Given the description of an element on the screen output the (x, y) to click on. 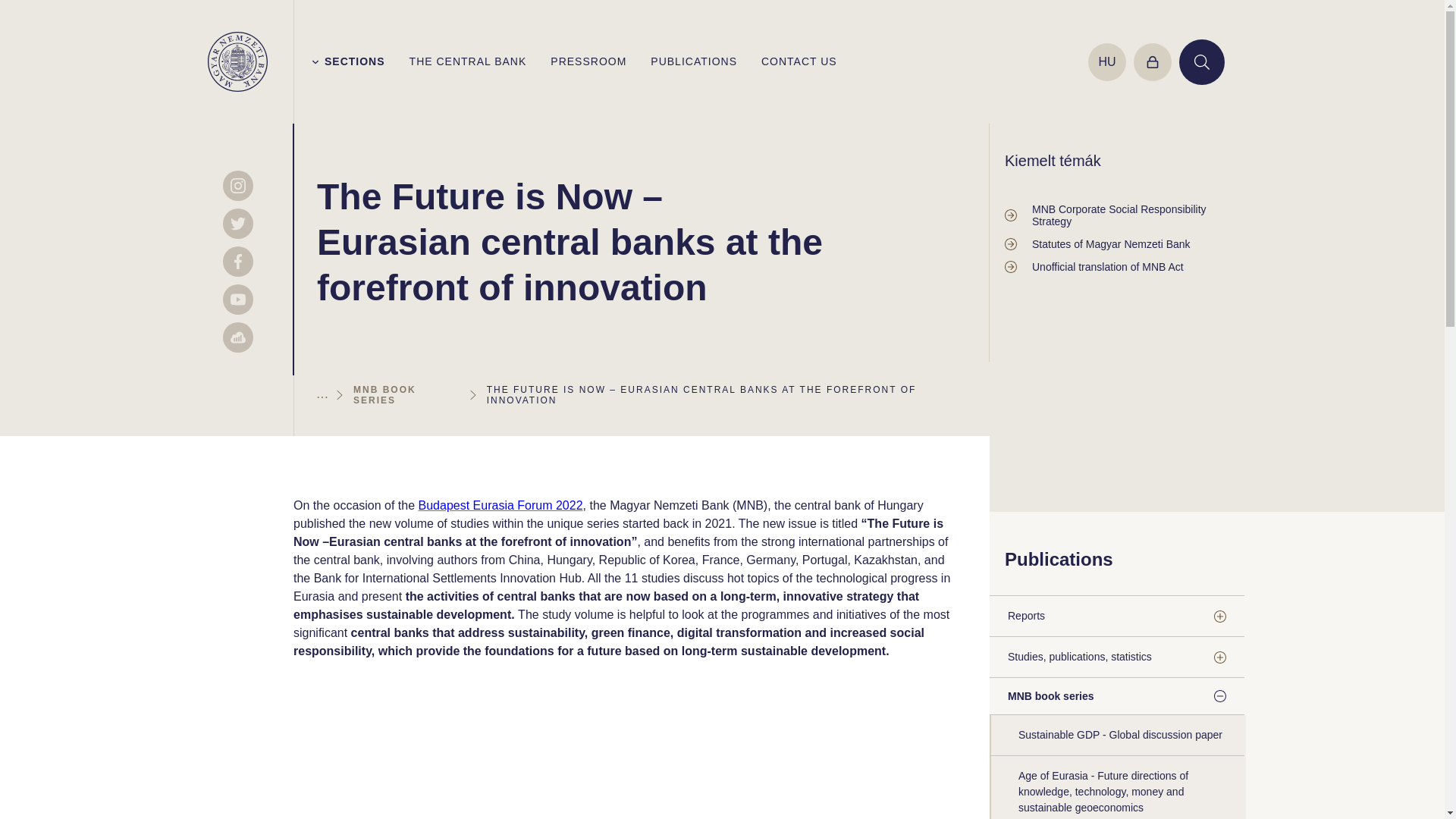
SECTIONS (349, 60)
Magyar Nemzeti Bank (238, 61)
CONTACT US (799, 60)
PRESSROOM (588, 60)
THE CENTRAL BANK (468, 60)
PUBLICATIONS (693, 60)
Login (1153, 61)
HU (1106, 61)
